Given the description of an element on the screen output the (x, y) to click on. 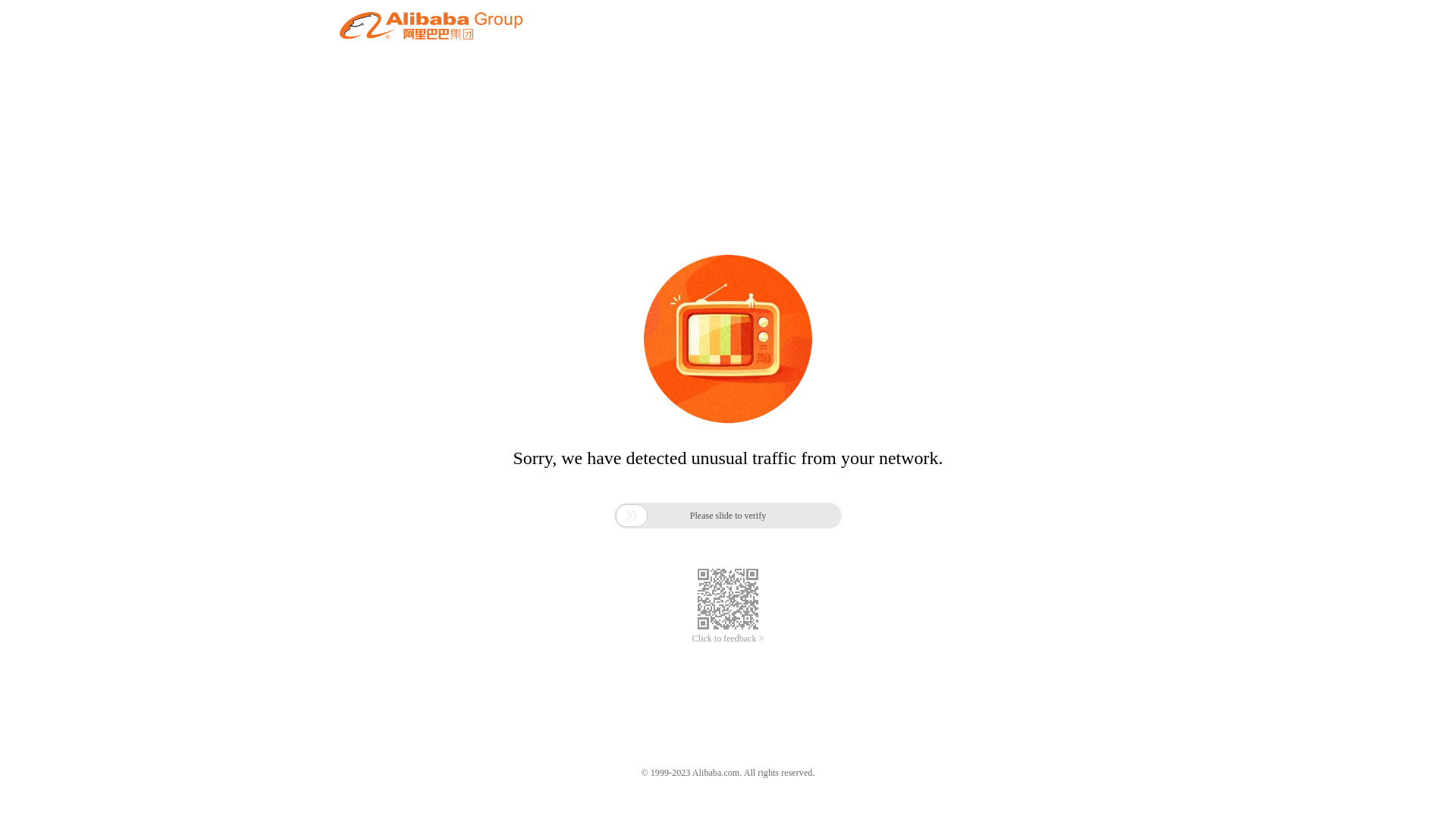
Click to feedback > Element type: text (727, 638)
